Given the description of an element on the screen output the (x, y) to click on. 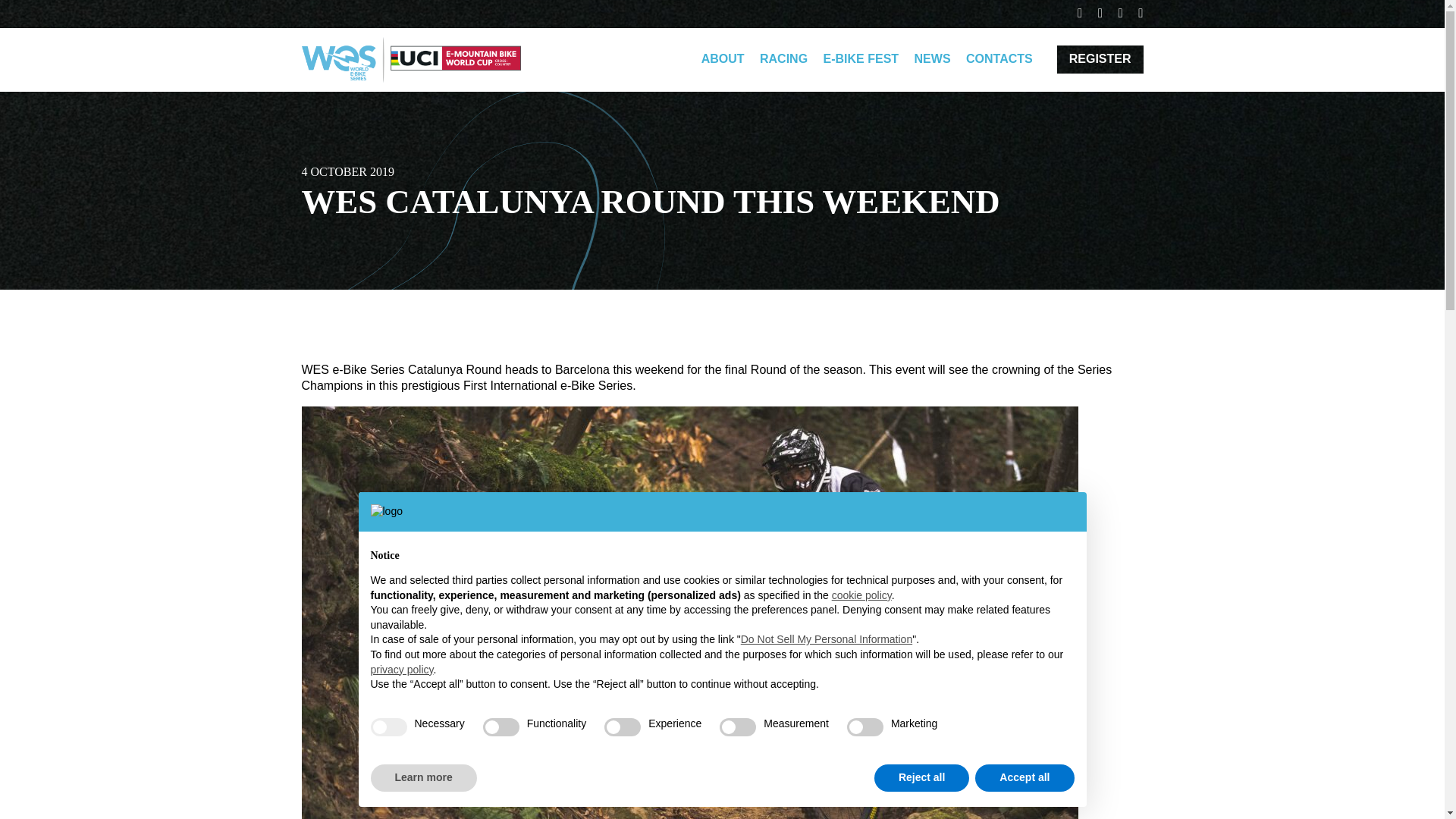
false (622, 727)
true (387, 727)
E-BIKE FEST (861, 58)
ABOUT (722, 58)
false (737, 727)
REGISTER (1099, 59)
false (501, 727)
CONTACTS (999, 58)
false (865, 727)
RACING (784, 58)
